Given the description of an element on the screen output the (x, y) to click on. 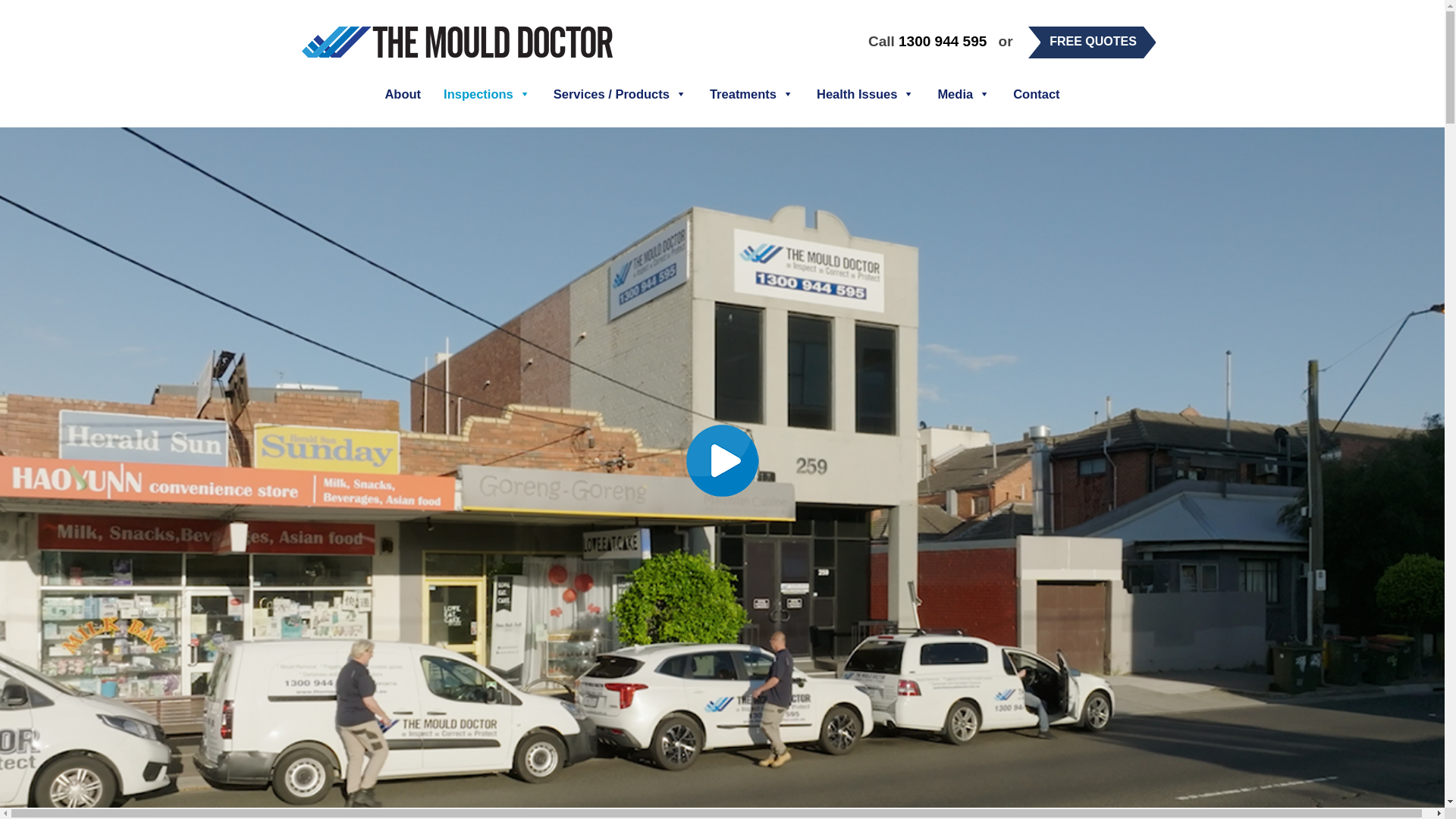
Inspections (486, 93)
1300 944 595 (942, 41)
FREE QUOTES (1092, 41)
About (402, 93)
